Given the description of an element on the screen output the (x, y) to click on. 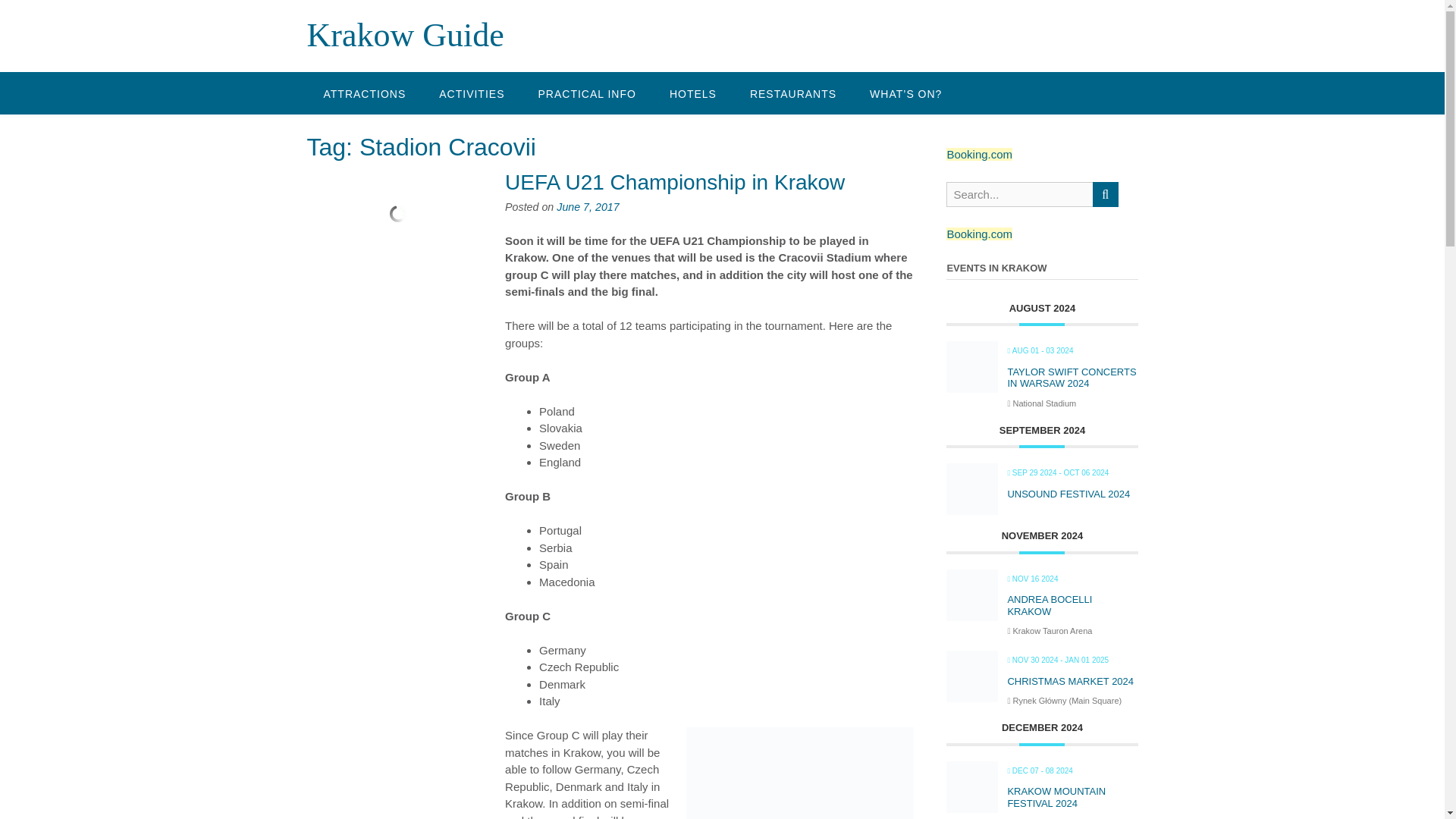
ATTRACTIONS (363, 92)
RESTAURANTS (793, 92)
Krakow Guide (404, 35)
Search for: (1019, 194)
Krakow Guide (404, 35)
ACTIVITIES (471, 92)
HOTELS (692, 92)
PRACTICAL INFO (586, 92)
